Given the description of an element on the screen output the (x, y) to click on. 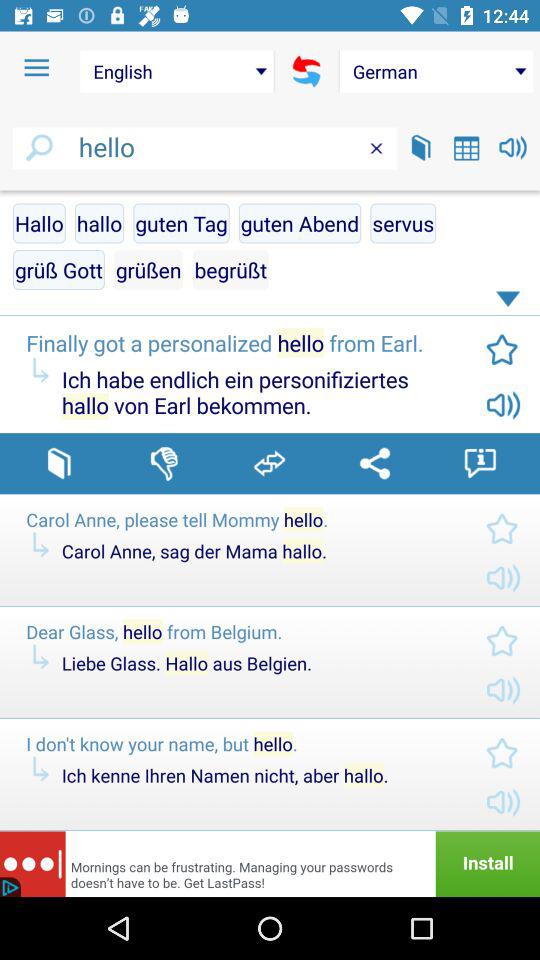
go to close (376, 148)
